Given the description of an element on the screen output the (x, y) to click on. 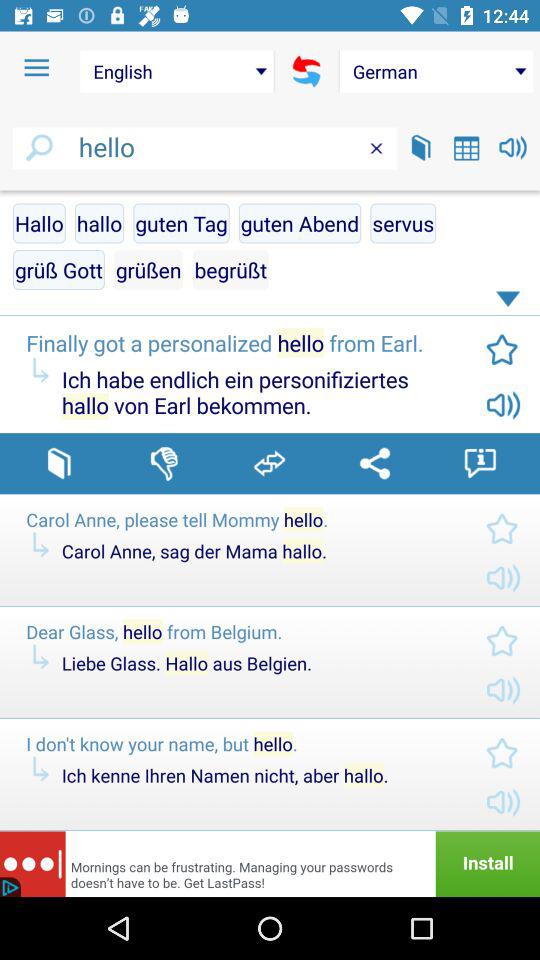
go to close (376, 148)
